Given the description of an element on the screen output the (x, y) to click on. 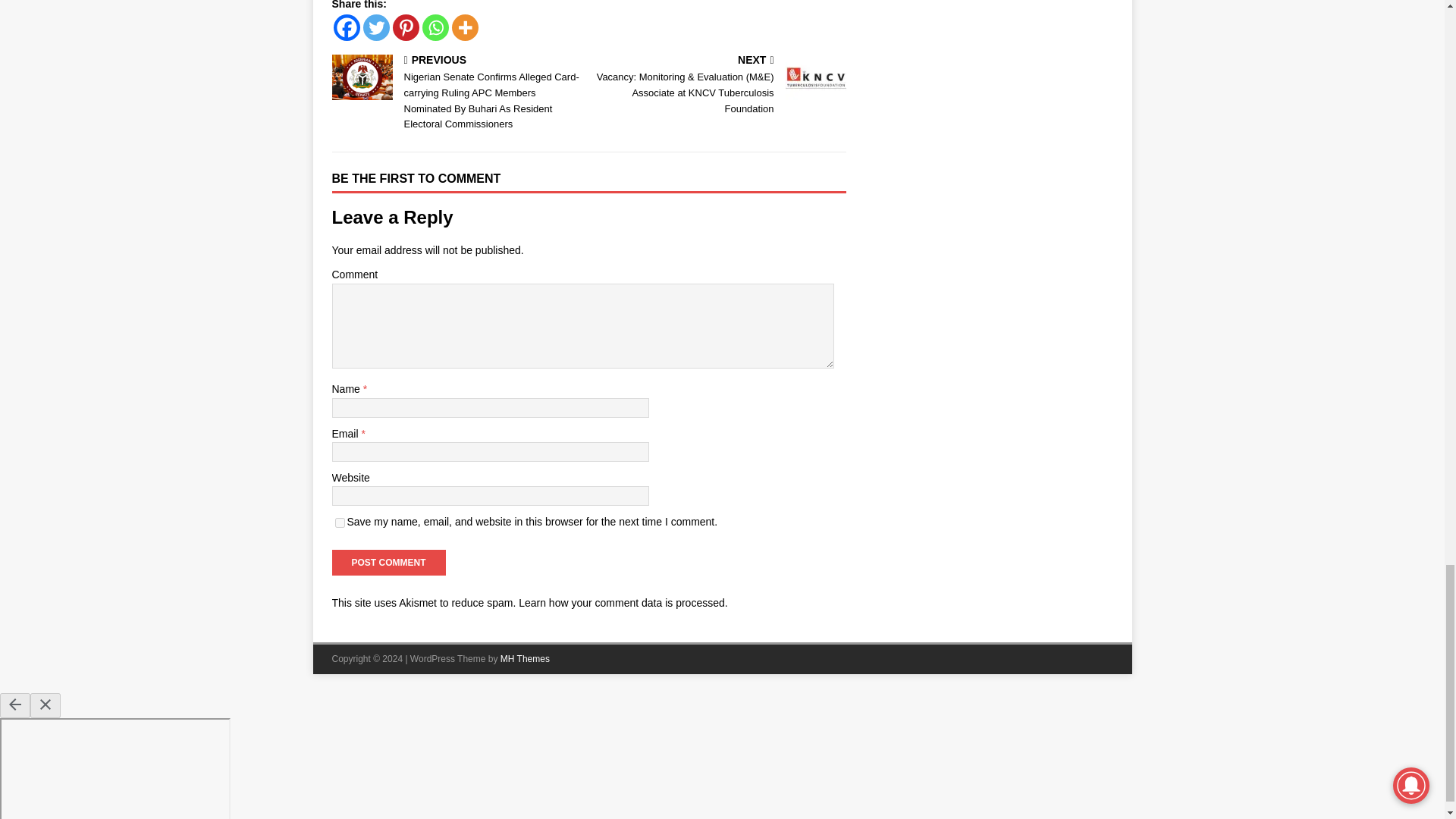
Learn how your comment data is processed (621, 603)
yes (339, 522)
Post Comment (388, 562)
Post Comment (388, 562)
